Given the description of an element on the screen output the (x, y) to click on. 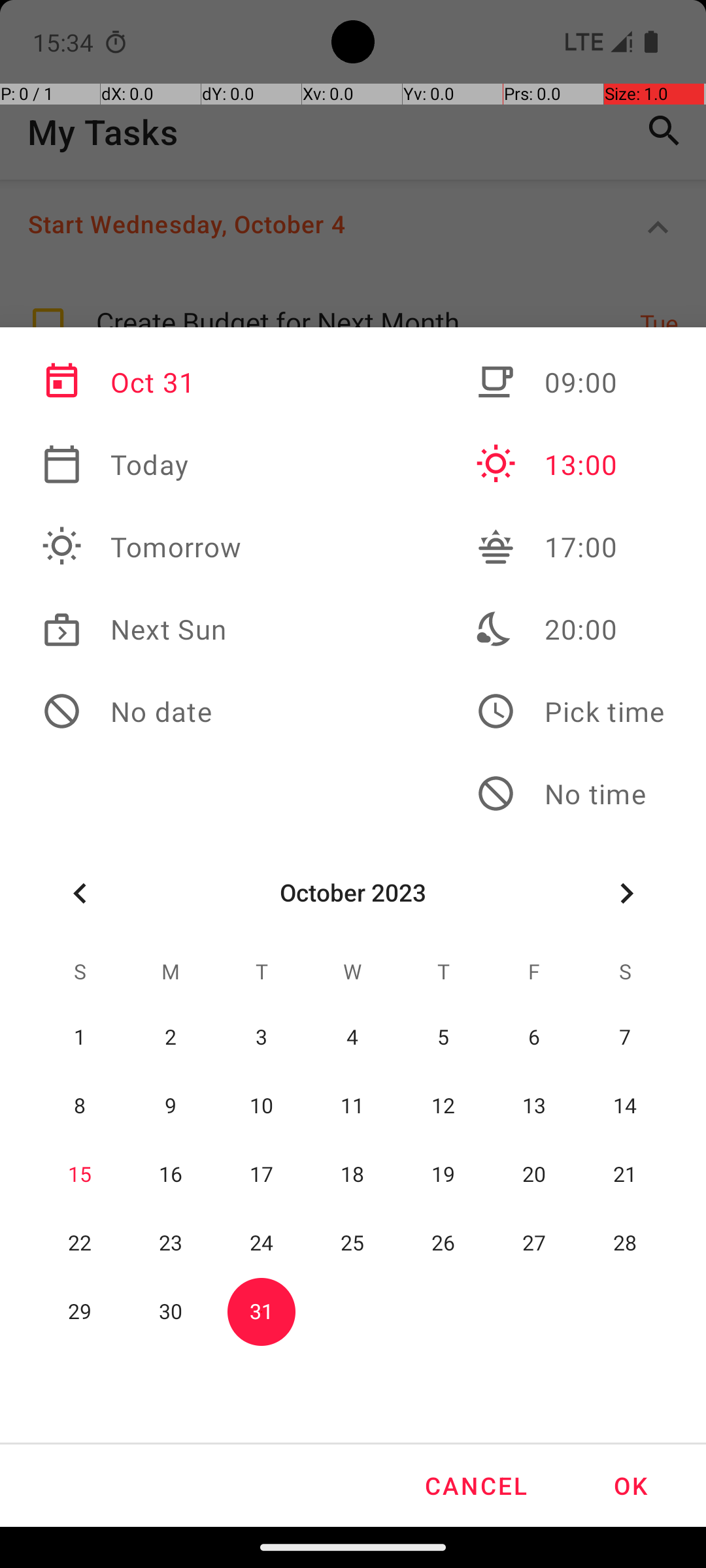
Oct 31 Element type: android.widget.CompoundButton (141, 382)
